Given the description of an element on the screen output the (x, y) to click on. 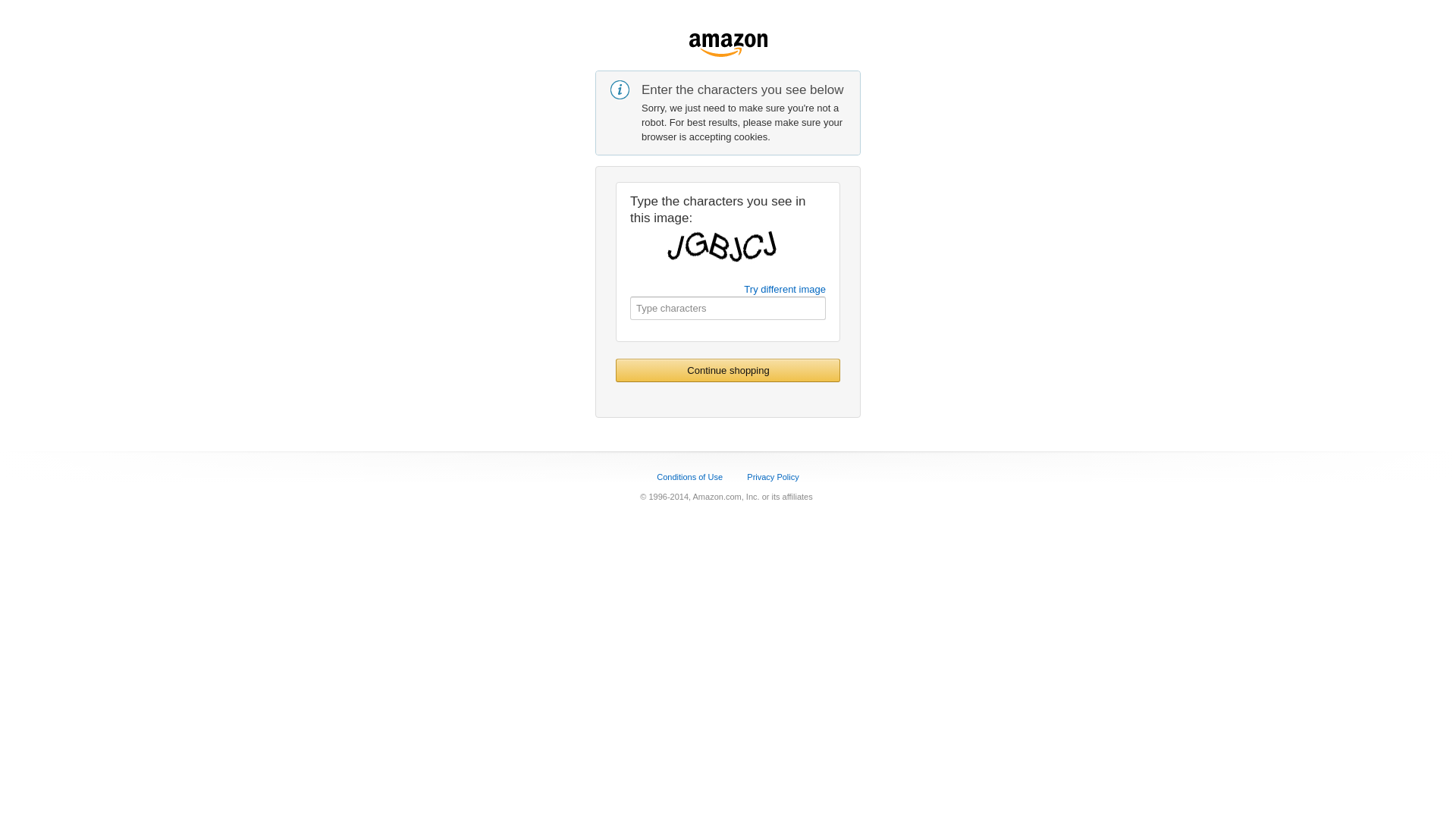
Continue shopping Element type: text (727, 370)
Privacy Policy Element type: text (772, 476)
Try different image Element type: text (784, 288)
Conditions of Use Element type: text (689, 476)
